Given the description of an element on the screen output the (x, y) to click on. 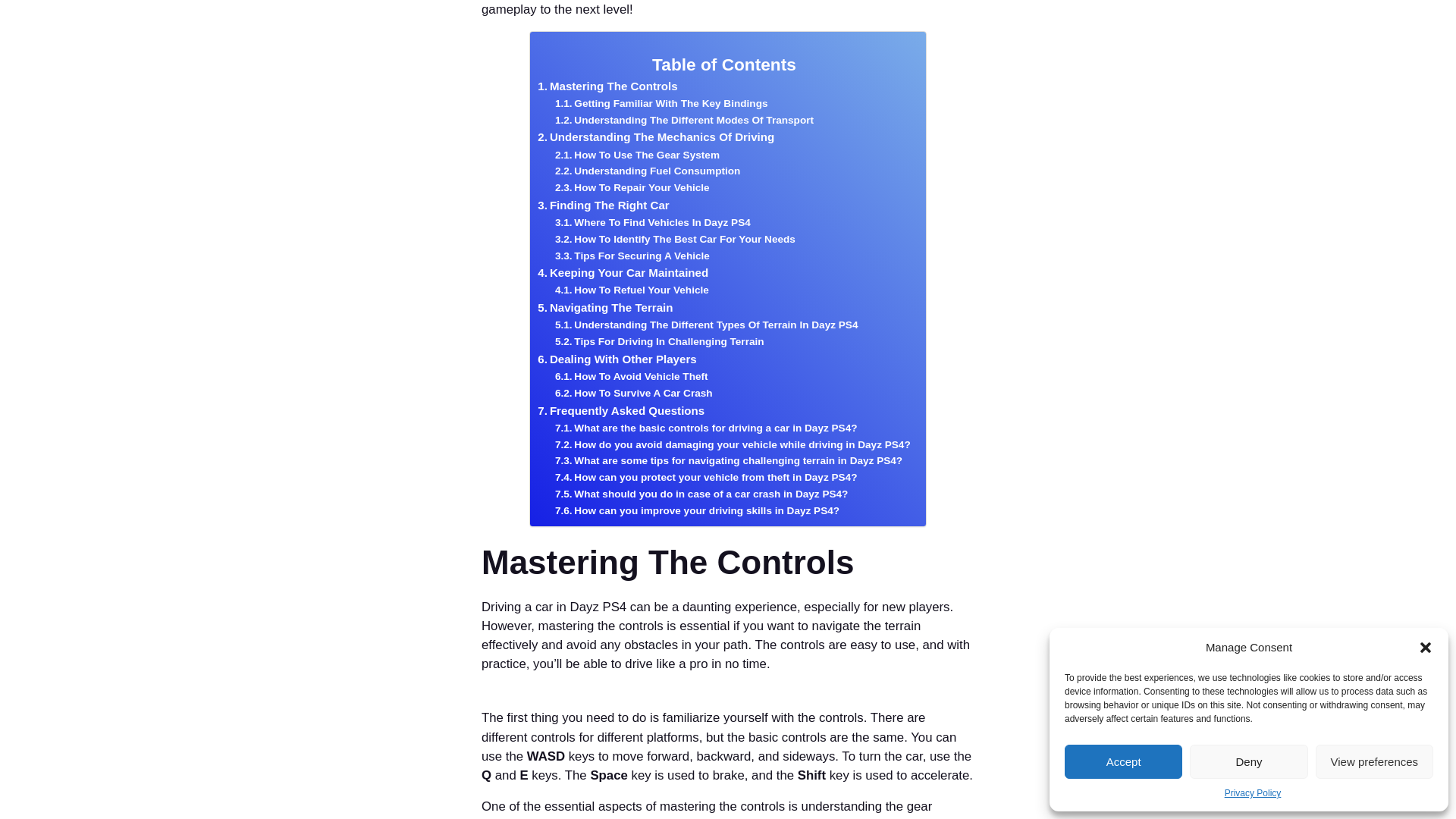
Finding The Right Car (602, 205)
Finding The Right Car (602, 205)
How To Identify The Best Car For Your Needs (674, 239)
Mastering The Controls (607, 85)
How To Repair Your Vehicle (632, 187)
Understanding Fuel Consumption (646, 170)
Mastering The Controls (607, 85)
Advertisement (329, 28)
Getting Familiar With The Key Bindings (661, 103)
Understanding The Different Modes Of Transport (683, 120)
